Given the description of an element on the screen output the (x, y) to click on. 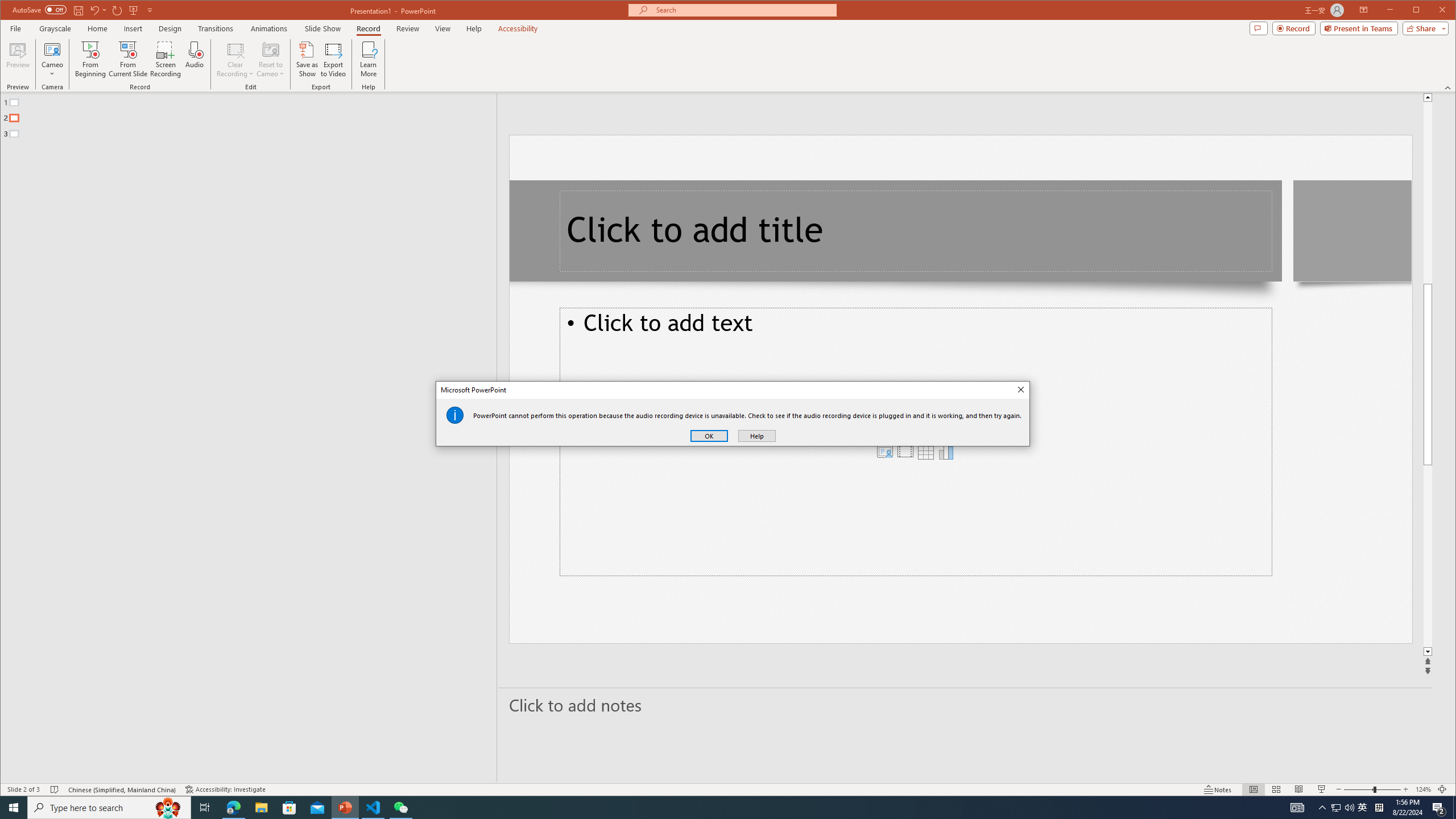
OK (709, 435)
